Given the description of an element on the screen output the (x, y) to click on. 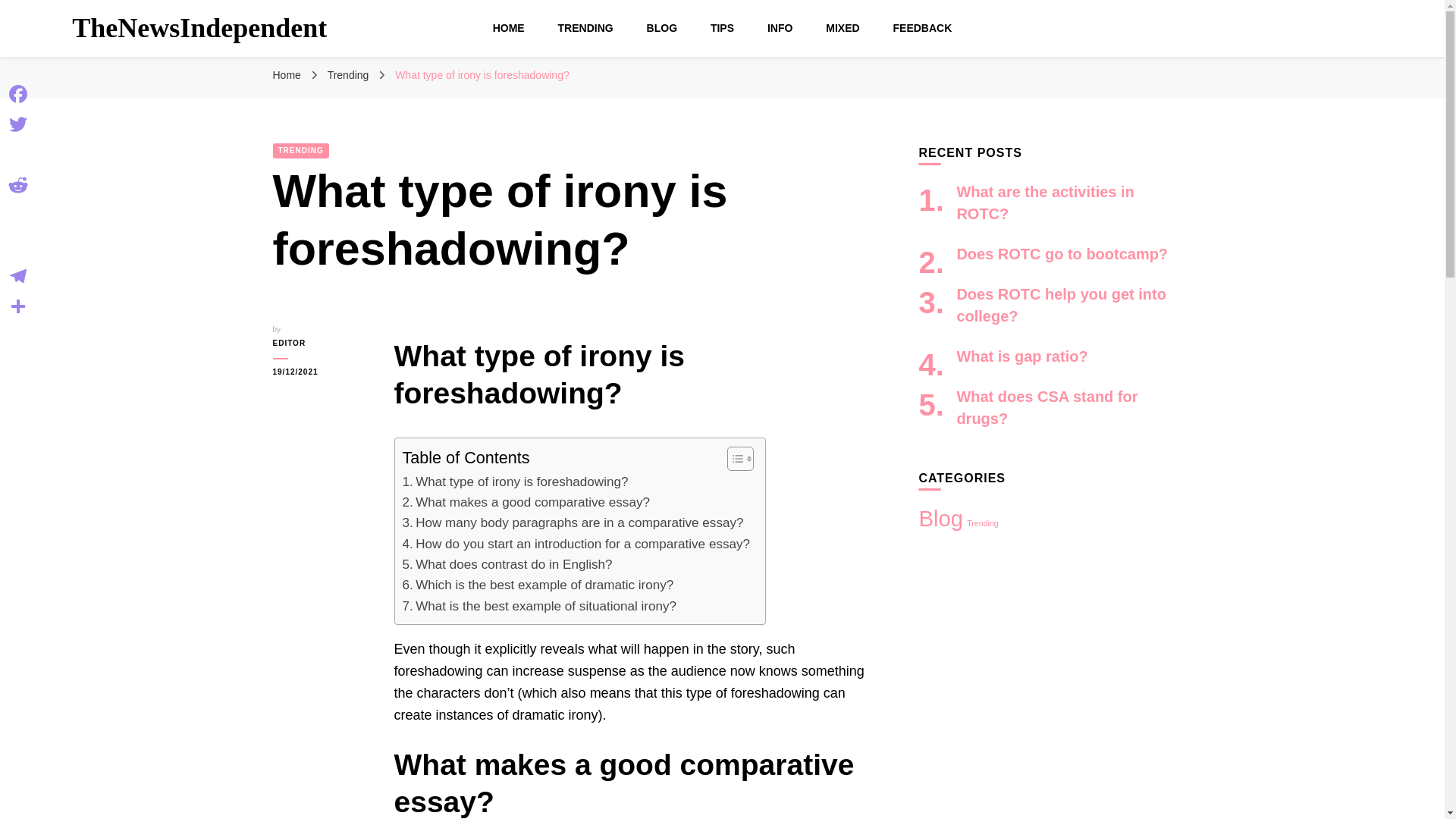
What is the best example of situational irony? (539, 606)
Which is the best example of dramatic irony? (536, 584)
What does contrast do in English? (506, 564)
EDITOR (322, 343)
TheNewsIndependent (198, 28)
What is the best example of situational irony? (539, 606)
Reddit (17, 184)
FEEDBACK (922, 28)
How do you start an introduction for a comparative essay? (575, 543)
What makes a good comparative essay? (525, 502)
